Given the description of an element on the screen output the (x, y) to click on. 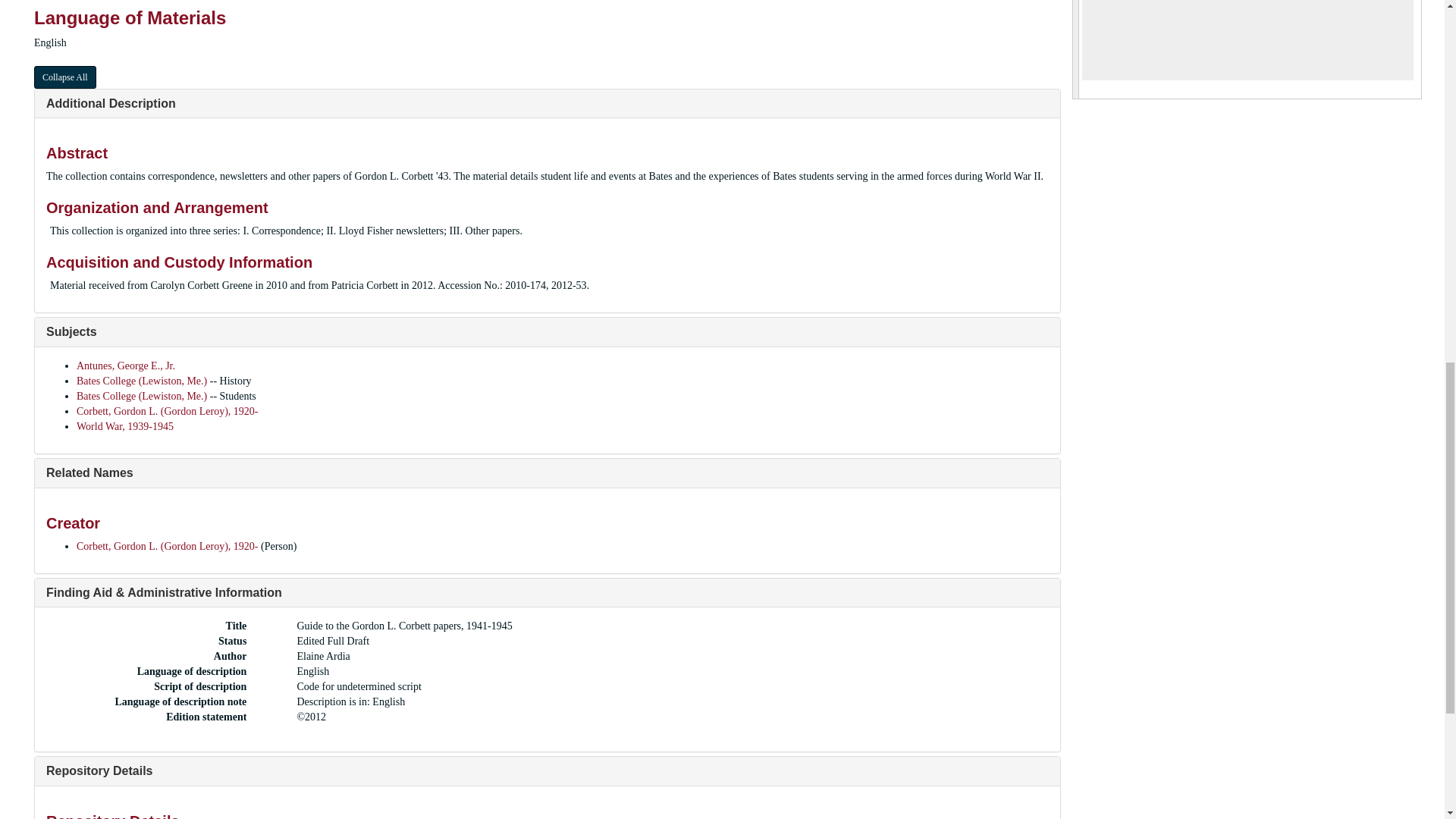
Subjects (71, 331)
Related Names (89, 472)
Repository Details (99, 770)
Antunes, George E., Jr. (125, 365)
World War, 1939-1945 (125, 426)
Additional Description (111, 103)
Collapse All (64, 77)
